Given the description of an element on the screen output the (x, y) to click on. 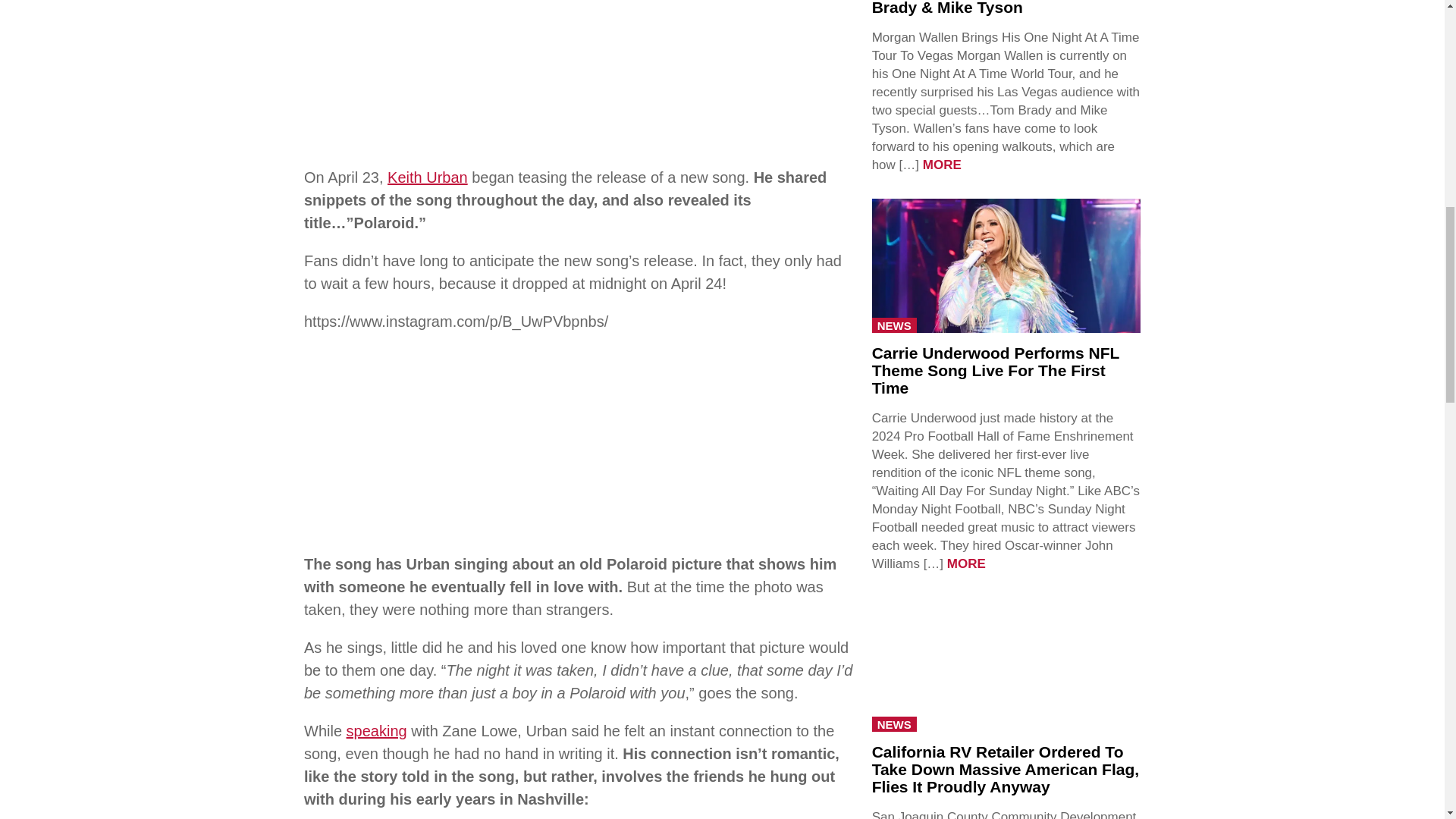
NEWS (894, 724)
MORE (966, 563)
Keith Urban (427, 176)
NEWS (894, 324)
speaking (376, 730)
CarrieFootballThemeHeader (1006, 264)
MORE (941, 164)
